Given the description of an element on the screen output the (x, y) to click on. 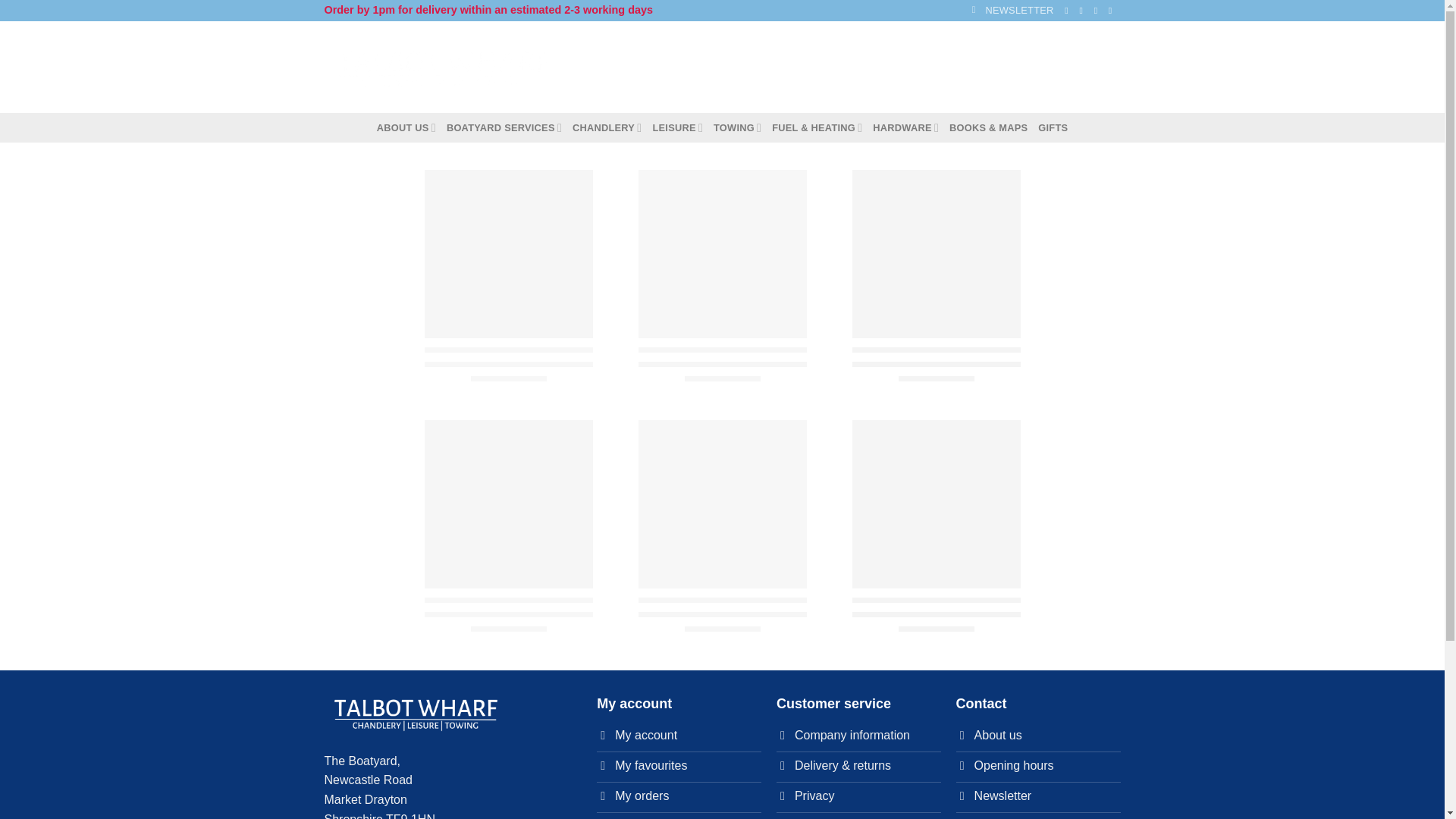
Talbot Wharf - Shop boating, leisure and towing products (443, 67)
NEWSLETTER (1013, 10)
BOATYARD SERVICES (504, 127)
ABOUT US (406, 127)
